Given the description of an element on the screen output the (x, y) to click on. 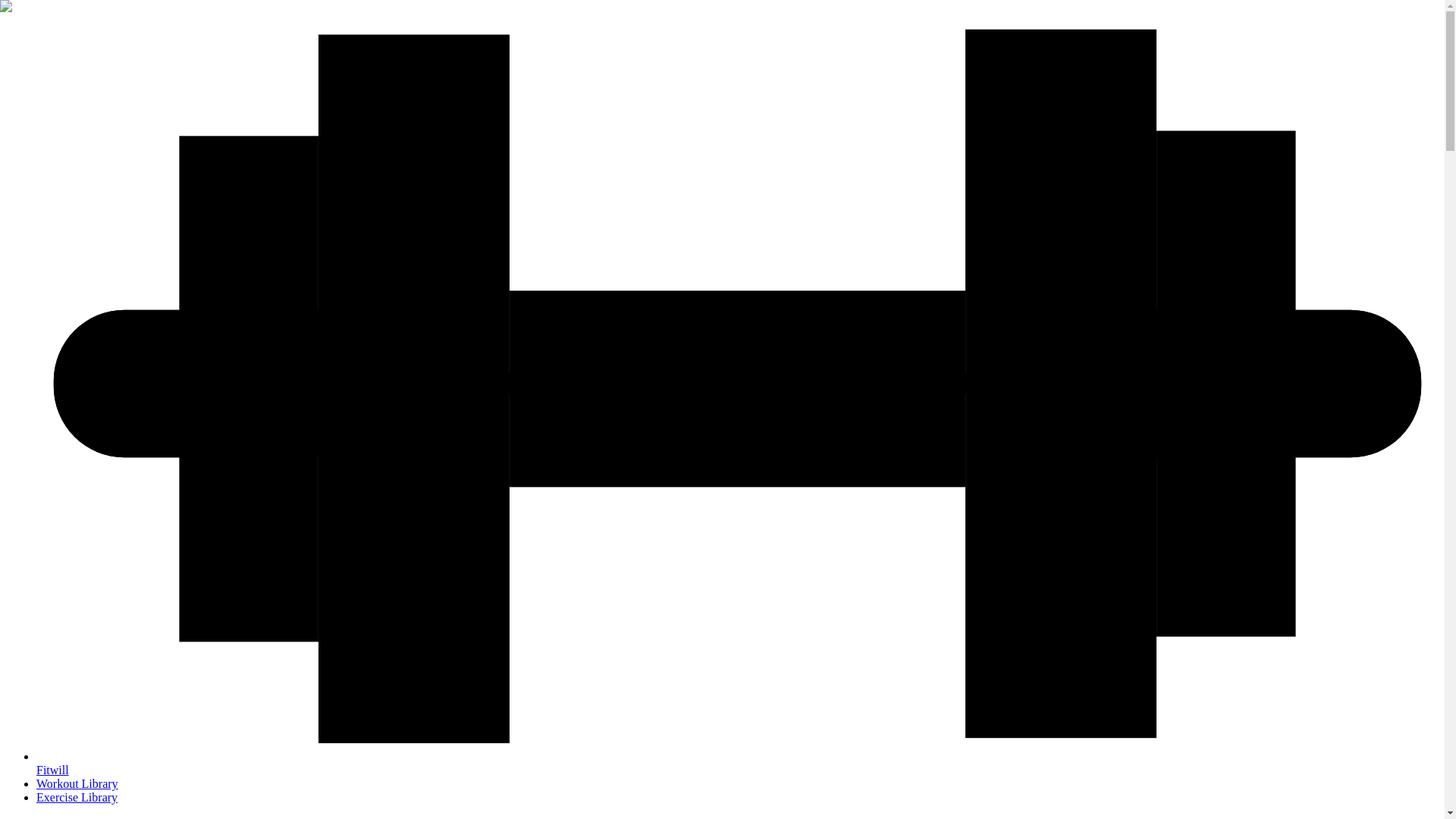
Workout Library (76, 783)
Exercise Library (76, 797)
